Given the description of an element on the screen output the (x, y) to click on. 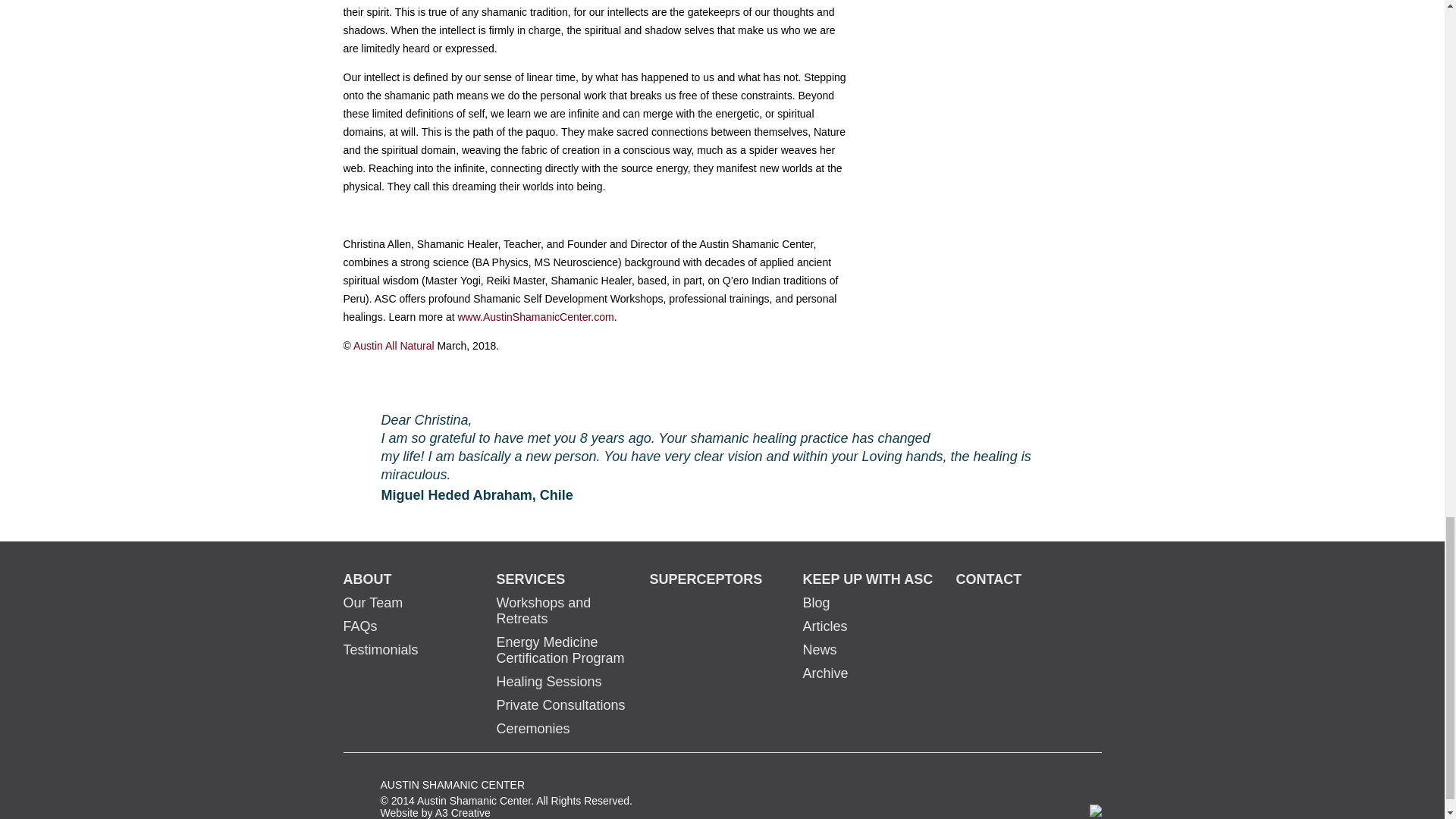
FAQs (359, 626)
ABOUT (366, 579)
Testimonials (379, 649)
SERVICES (530, 579)
Our Team (372, 602)
Workshops and Retreats (543, 610)
Austin All Natural (393, 345)
www.AustinShamanicCenter.com (534, 316)
